Given the description of an element on the screen output the (x, y) to click on. 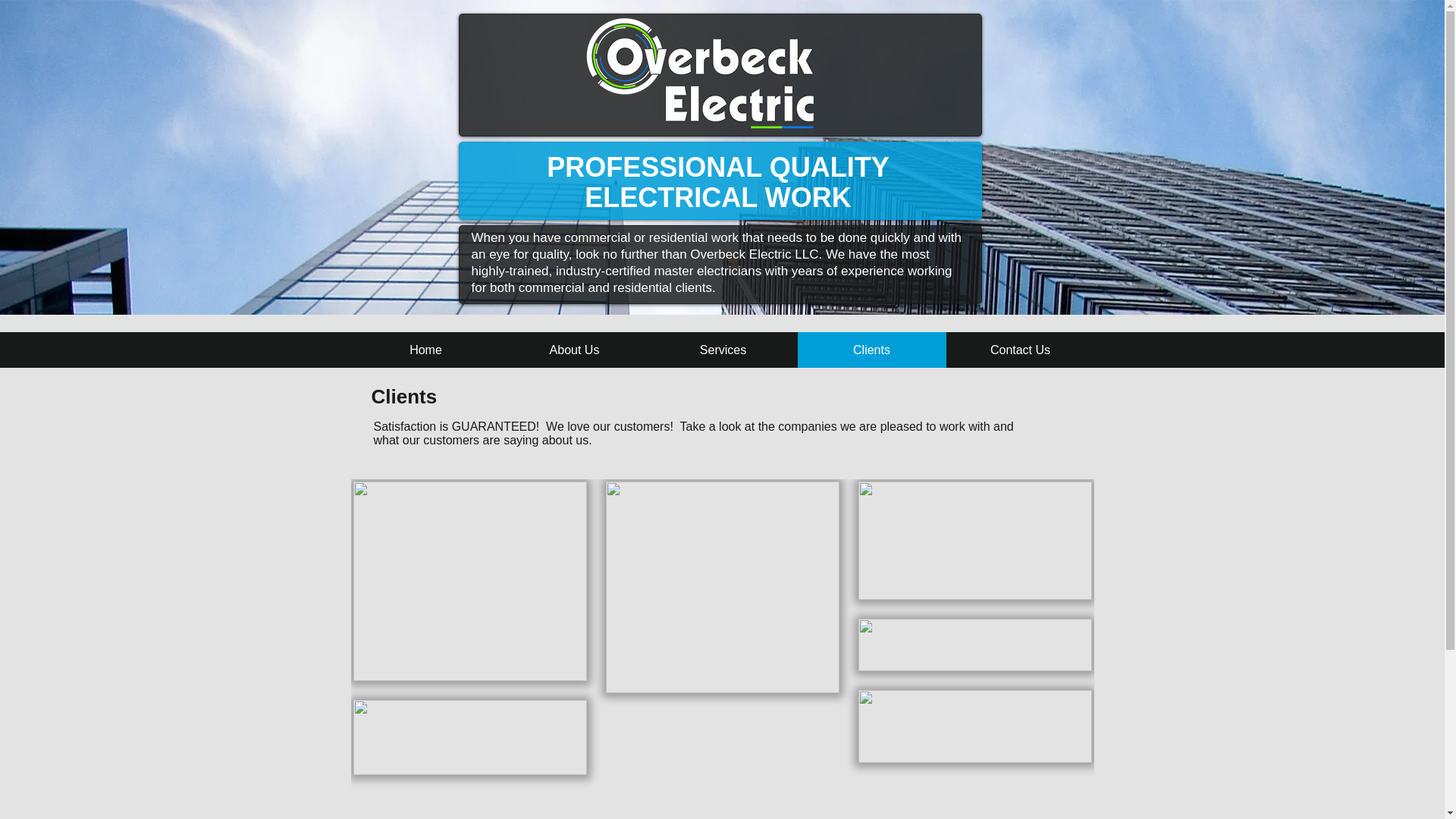
About Us (574, 349)
Clients (871, 349)
Contact Us (1020, 349)
Services (723, 349)
Home (426, 349)
